Given the description of an element on the screen output the (x, y) to click on. 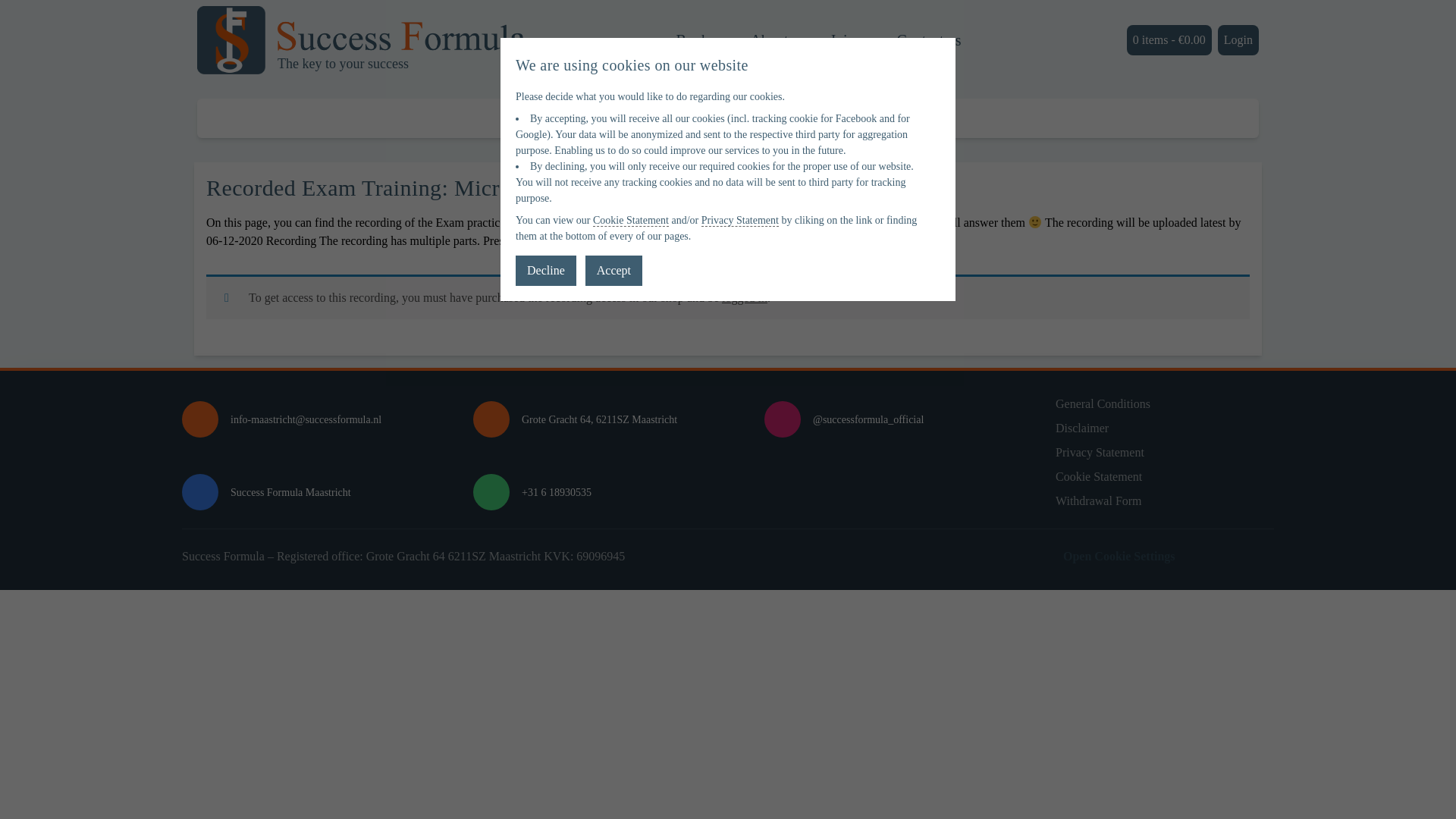
View your shopping cart (1168, 40)
The key to your success (360, 39)
About us (778, 39)
Book us (700, 39)
